Given the description of an element on the screen output the (x, y) to click on. 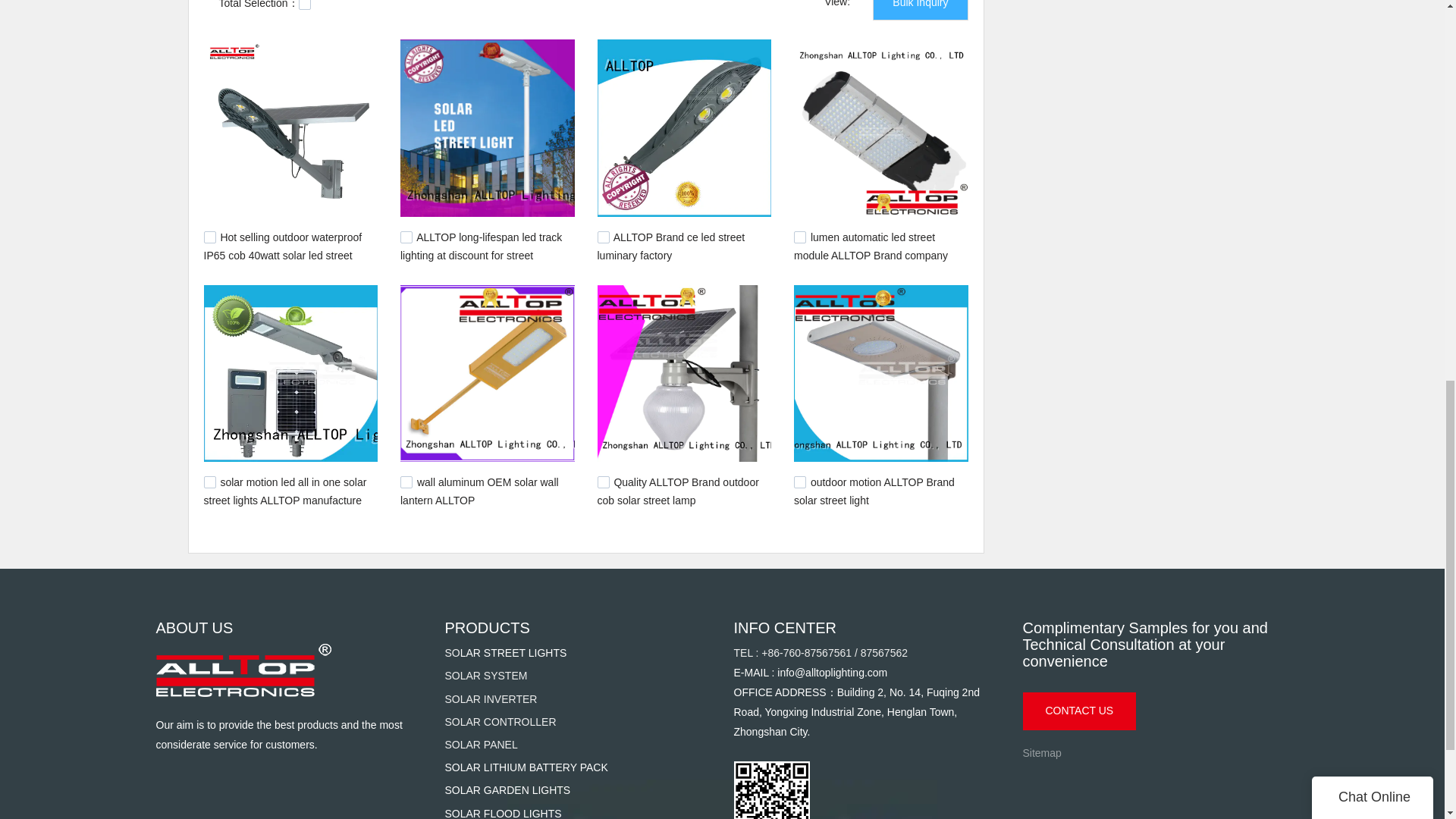
Quality ALLTOP Brand outdoor cob solar street lamp (677, 490)
lumen automatic led street module ALLTOP Brand company (870, 245)
643 (799, 236)
527 (406, 481)
ALLTOP Brand ce led street luminary factory (670, 245)
368 (603, 481)
651 (603, 236)
1077 (406, 236)
310 (209, 236)
outdoor motion ALLTOP Brand solar street light (874, 490)
wall aluminum OEM solar wall lantern ALLTOP (479, 490)
574 (209, 481)
